Given the description of an element on the screen output the (x, y) to click on. 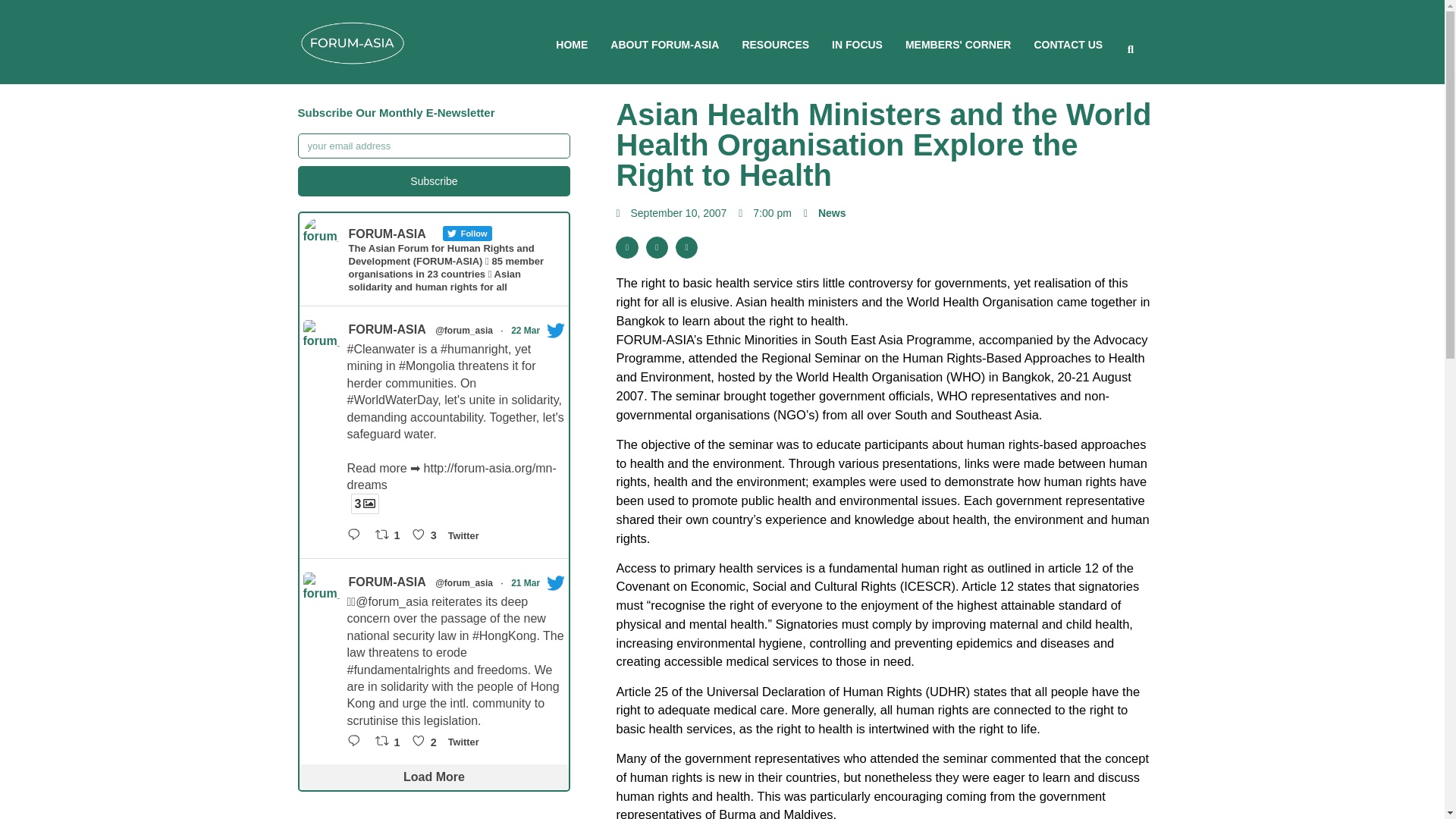
CONTACT US (1067, 44)
MEMBERS' CORNER (957, 44)
HOME (571, 44)
IN FOCUS (856, 44)
ABOUT FORUM-ASIA (664, 44)
RESOURCES (774, 44)
